Given the description of an element on the screen output the (x, y) to click on. 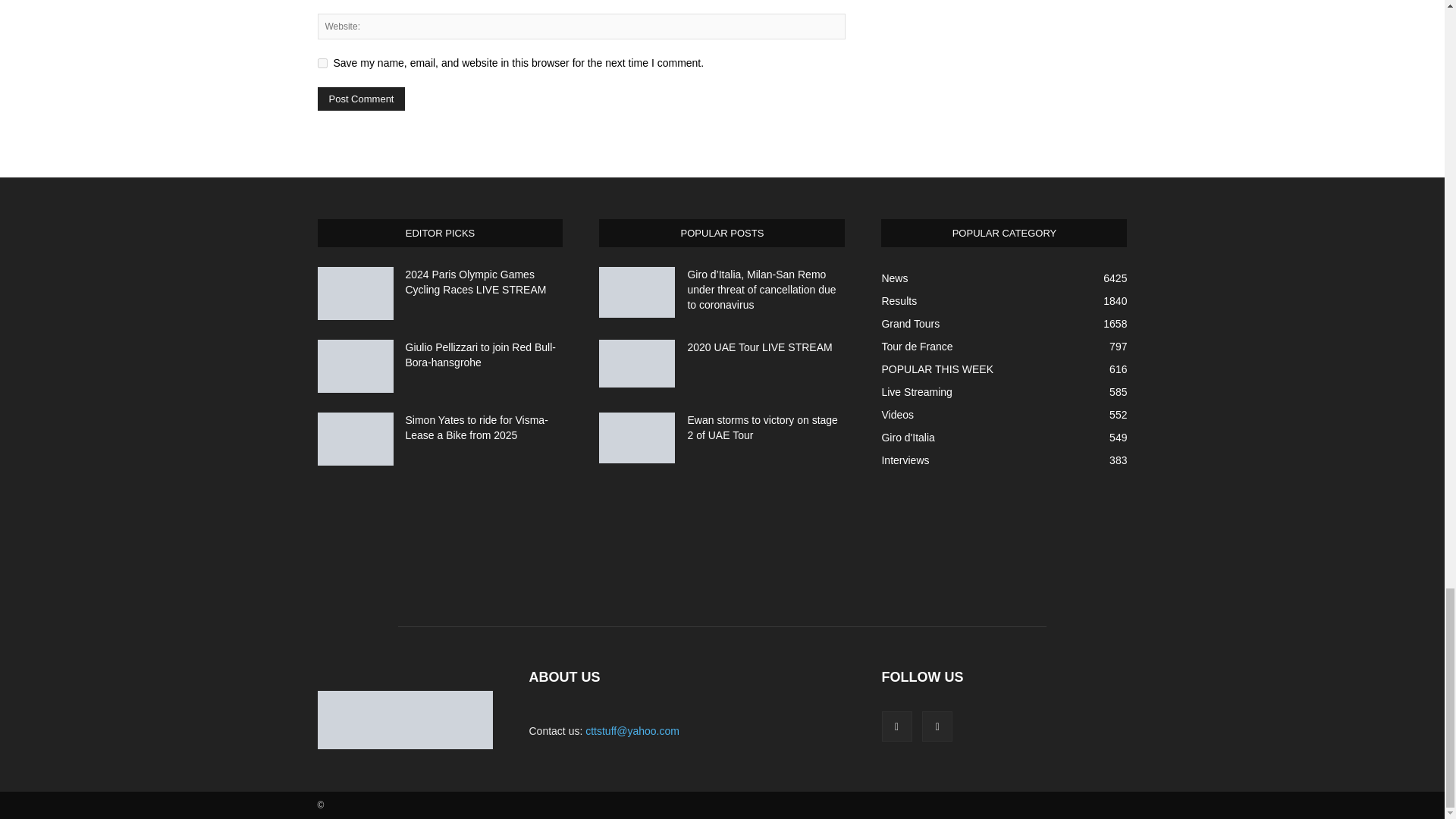
Post Comment (360, 98)
yes (321, 62)
